Given the description of an element on the screen output the (x, y) to click on. 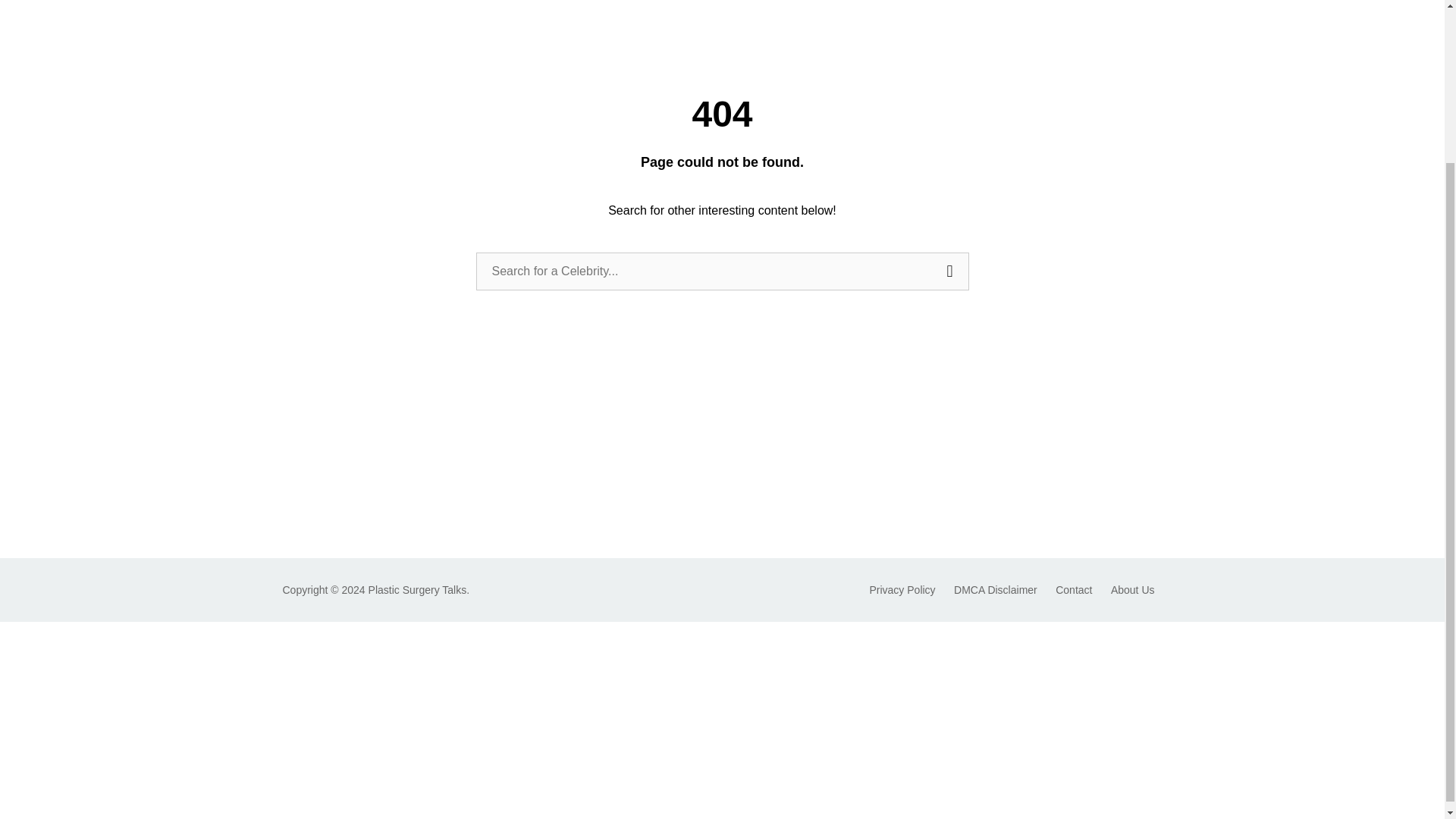
Search (950, 271)
Contact (1073, 589)
About Us (1132, 589)
DMCA Disclaimer (994, 589)
Privacy Policy (901, 589)
